Given the description of an element on the screen output the (x, y) to click on. 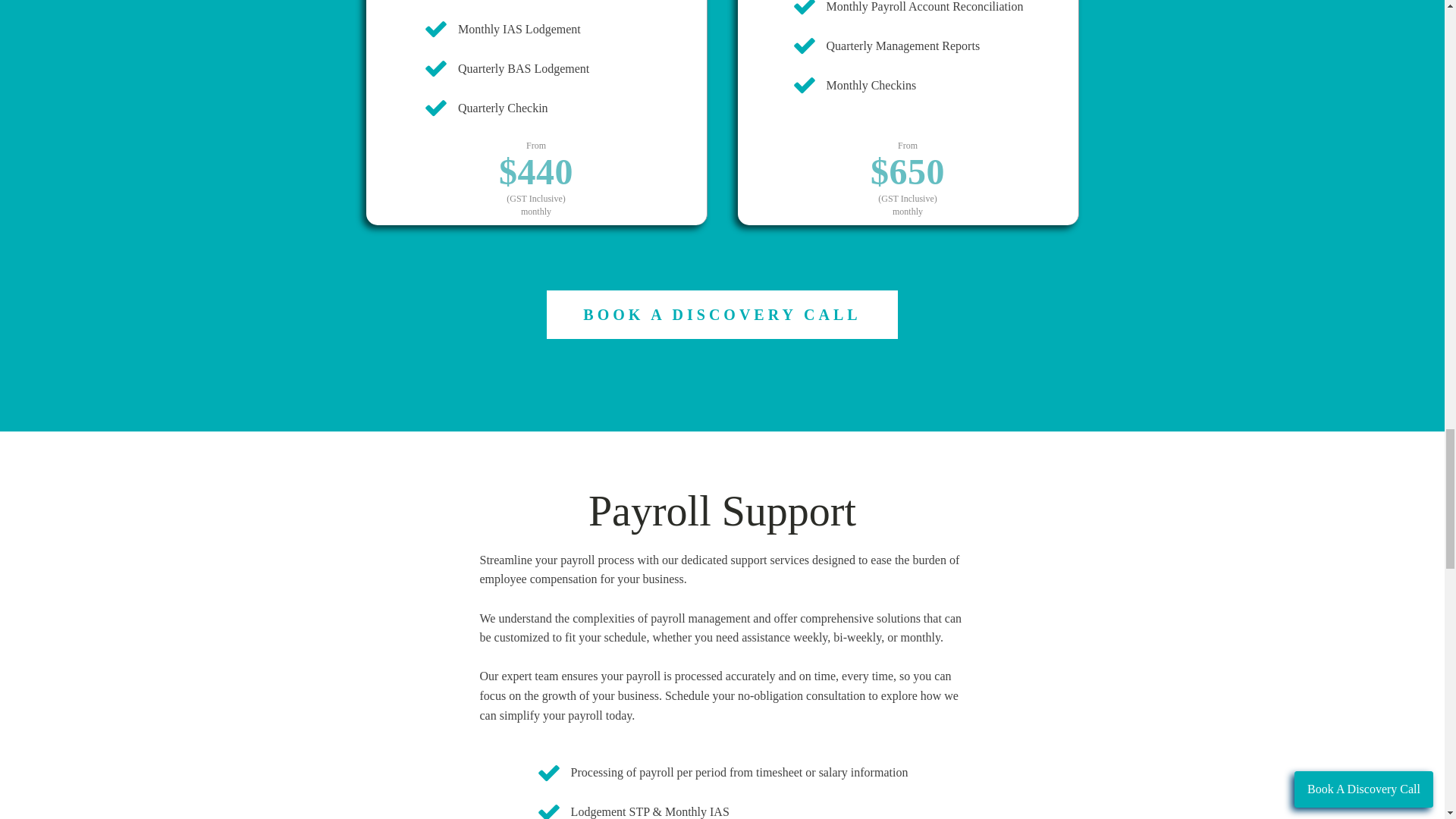
BOOK A DISCOVERY CALL (721, 314)
